Given the description of an element on the screen output the (x, y) to click on. 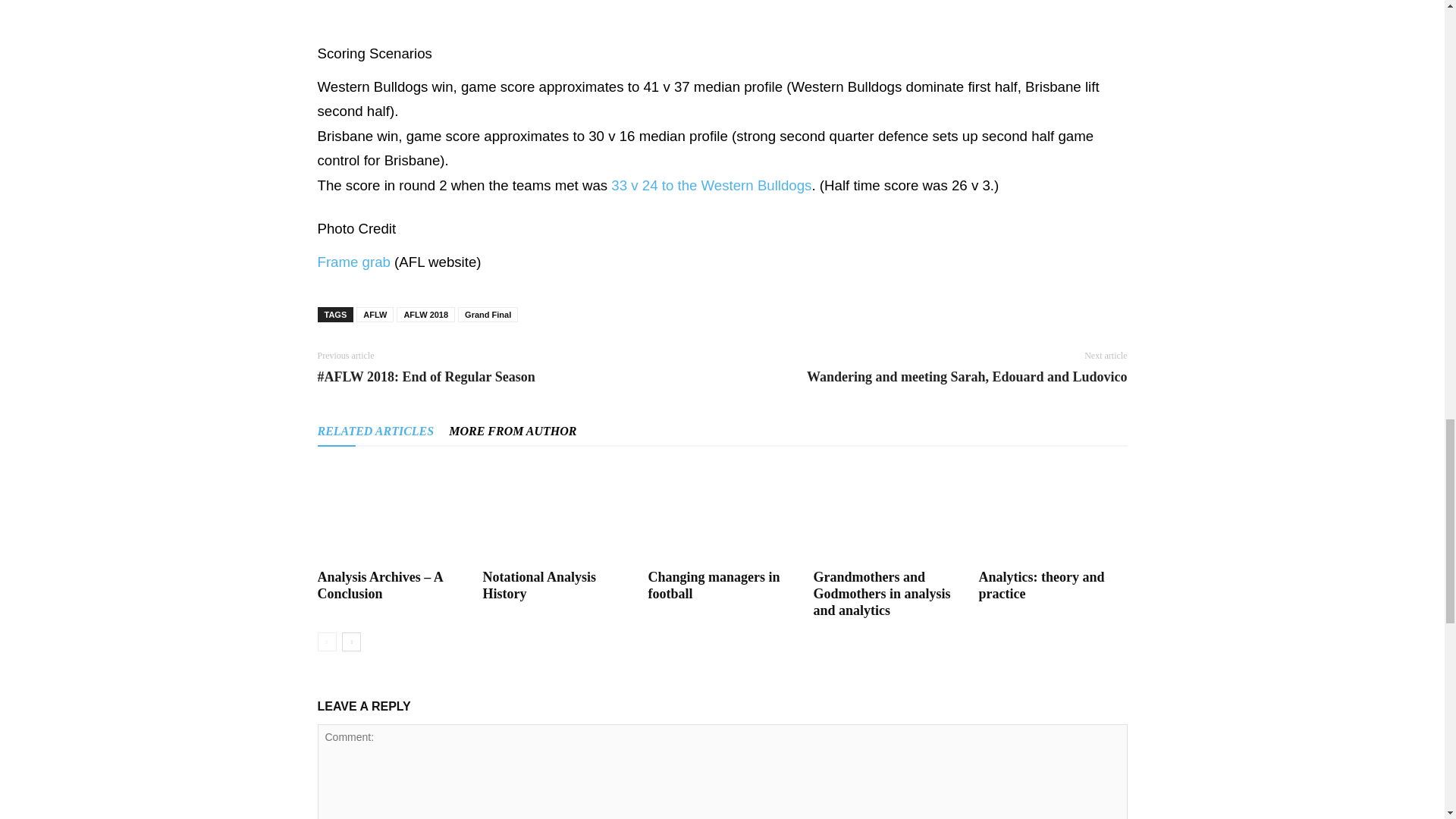
AFLW 2018 (425, 314)
33 v 24 to the Western Bulldogs (710, 185)
Frame grab (353, 262)
Notational Analysis History (538, 585)
Notational Analysis History (555, 512)
Changing managers in football (721, 512)
Grand Final (488, 314)
AFLW (374, 314)
